Given the description of an element on the screen output the (x, y) to click on. 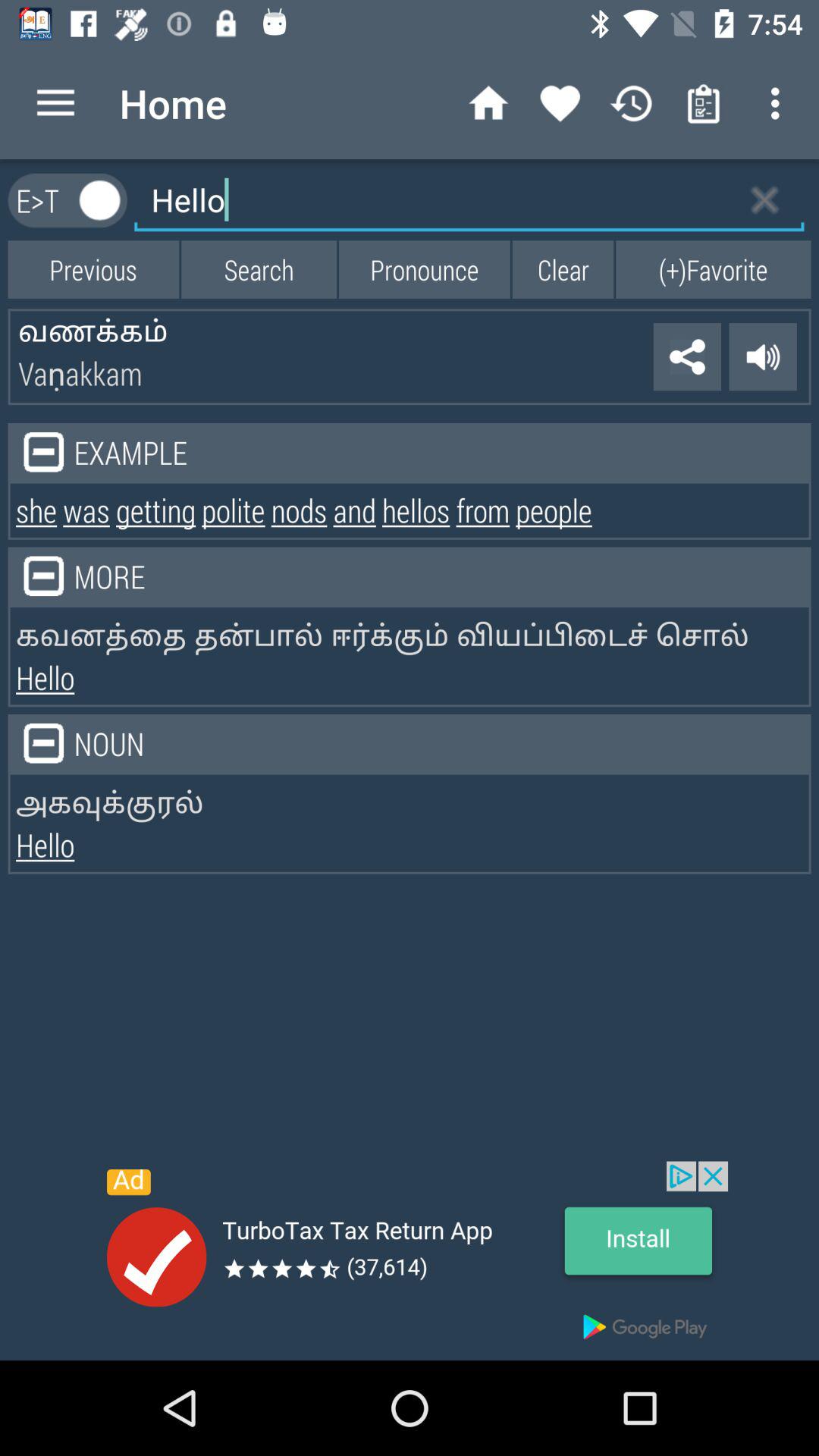
go to advertisement (409, 1260)
